Given the description of an element on the screen output the (x, y) to click on. 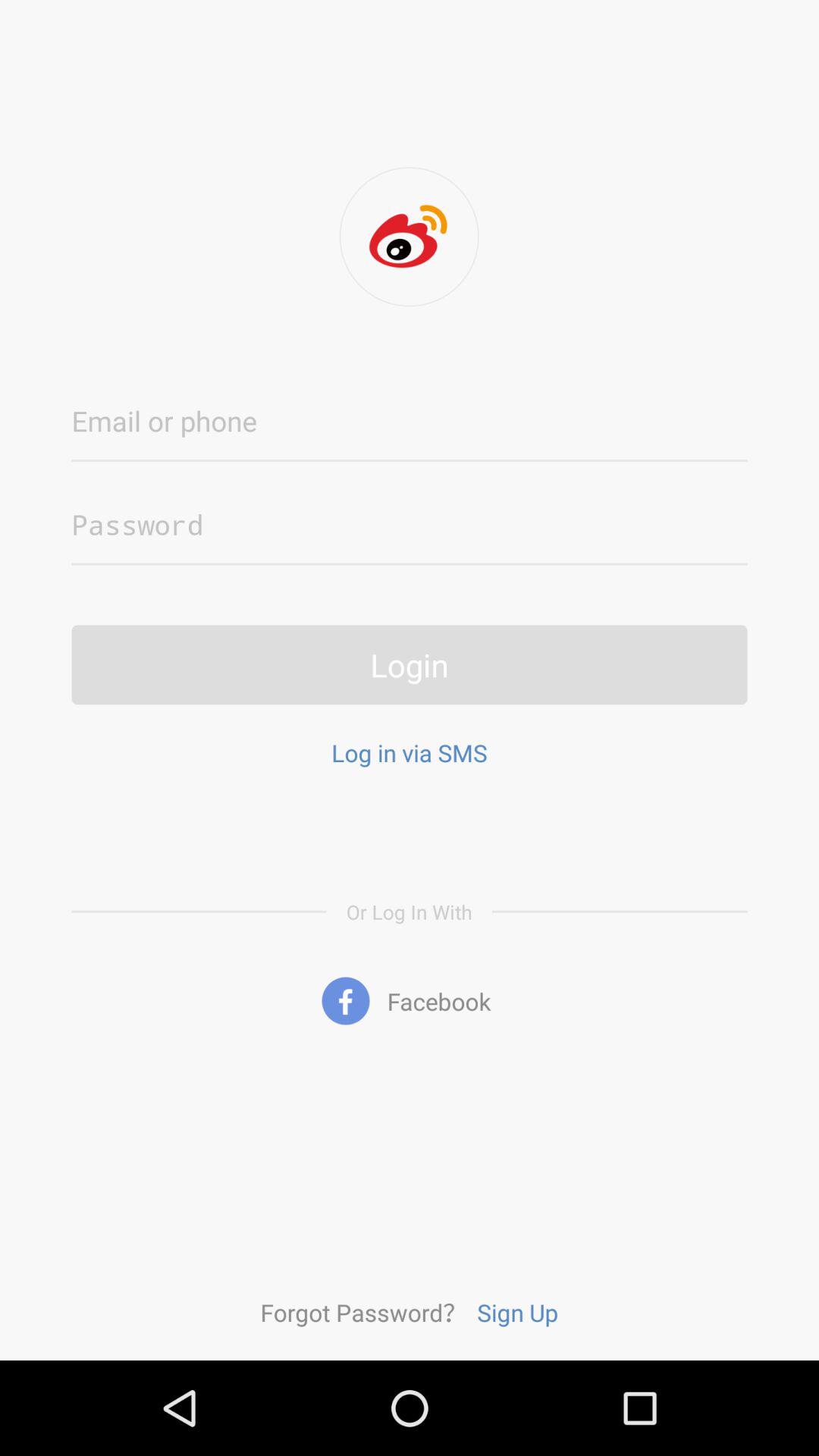
turn off icon below or log in (409, 1000)
